Given the description of an element on the screen output the (x, y) to click on. 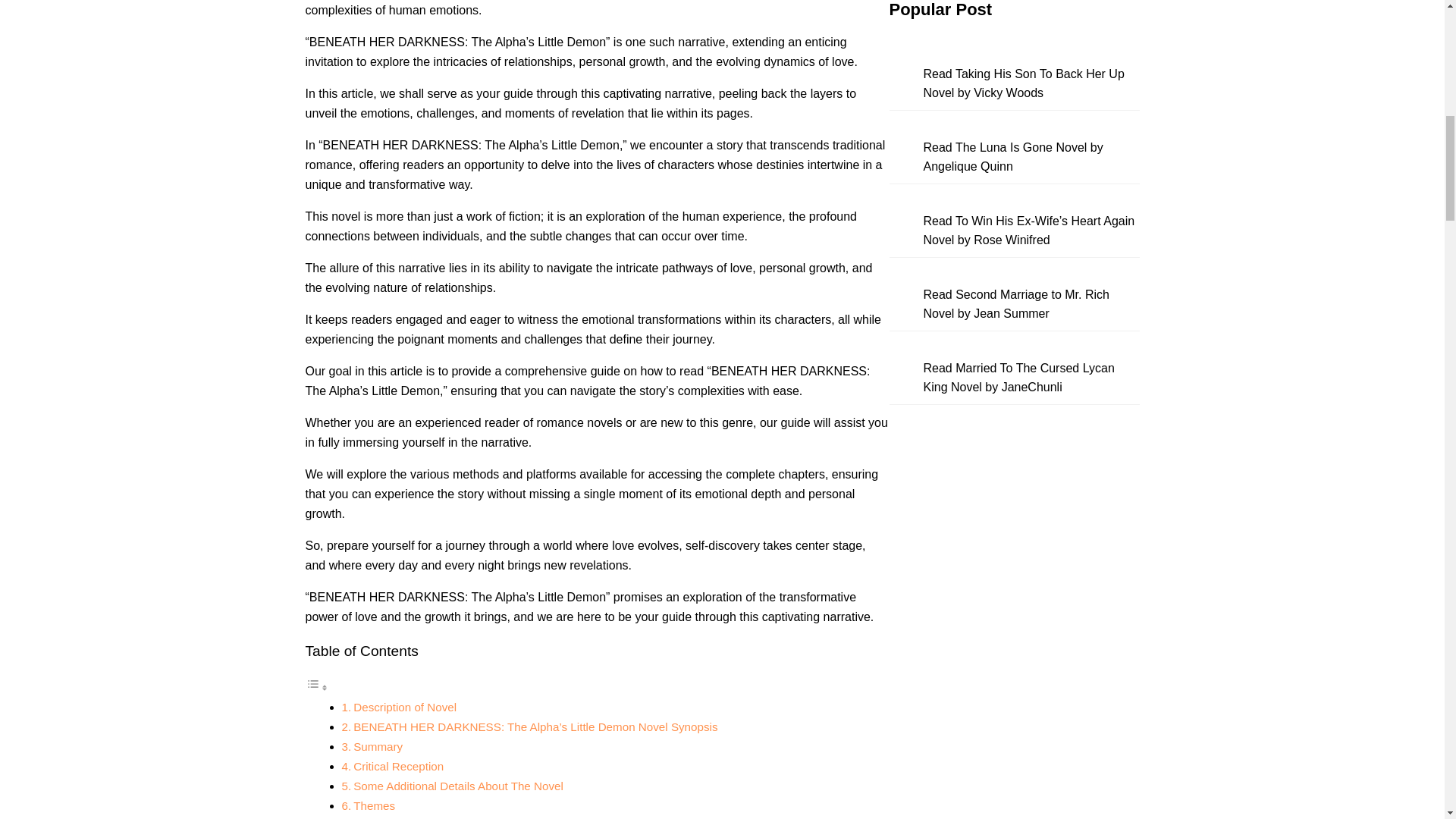
Critical Reception (398, 766)
Critical Reception (398, 766)
Themes (373, 805)
Description of Novel (405, 707)
Summary (378, 746)
Some Additional Details About The Novel (458, 785)
Summary (378, 746)
Themes (373, 805)
Description of Novel (405, 707)
Some Additional Details About The Novel (458, 785)
